Given the description of an element on the screen output the (x, y) to click on. 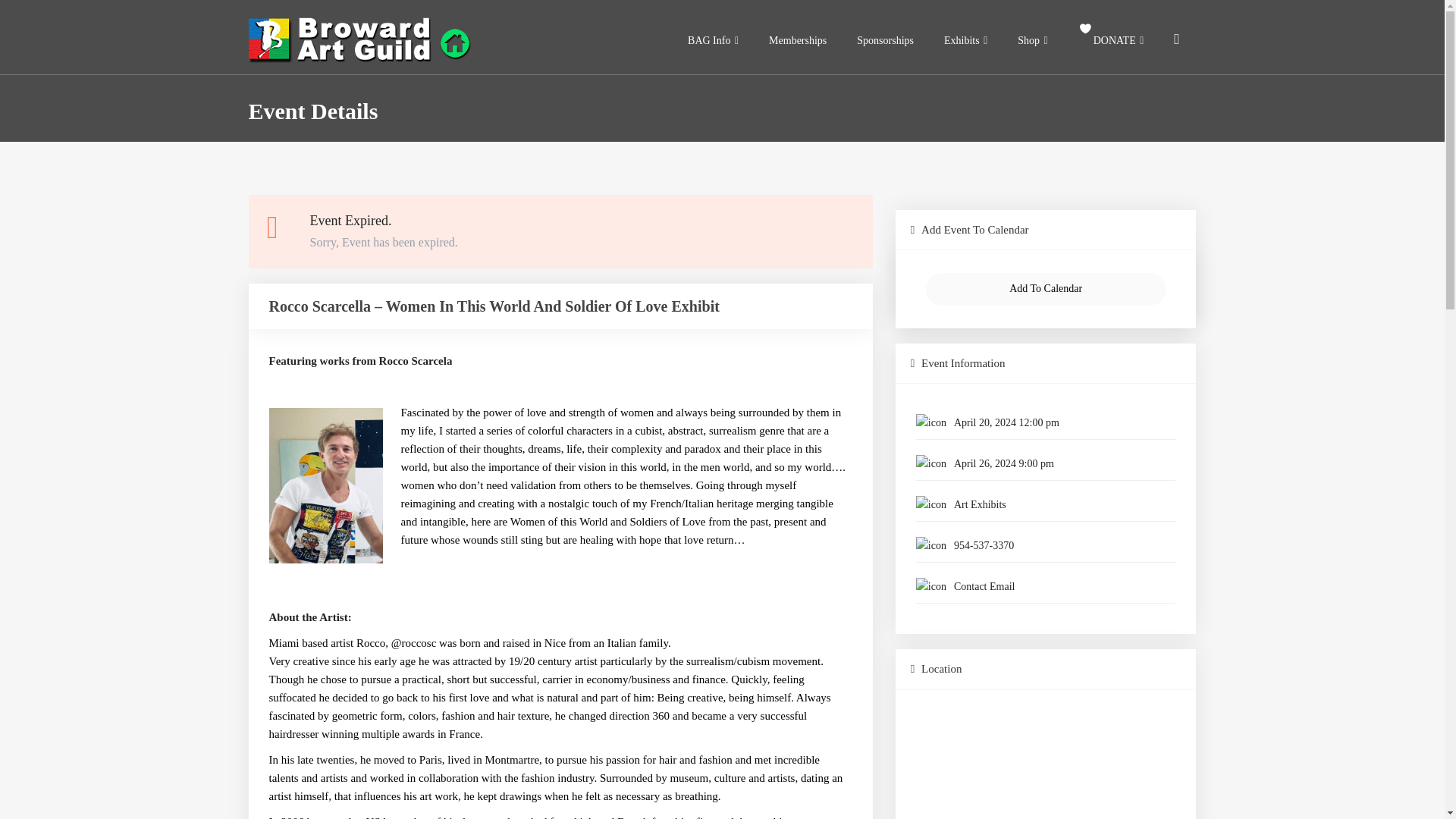
Art Exhibits (979, 504)
Event end date (1045, 463)
Location (1045, 669)
Shop (1032, 40)
DONATE (1110, 40)
Exhibits (965, 40)
Sponsorships (884, 40)
BAG Info (713, 40)
Event category (1045, 504)
Add Event To Calendar (1045, 229)
